Given the description of an element on the screen output the (x, y) to click on. 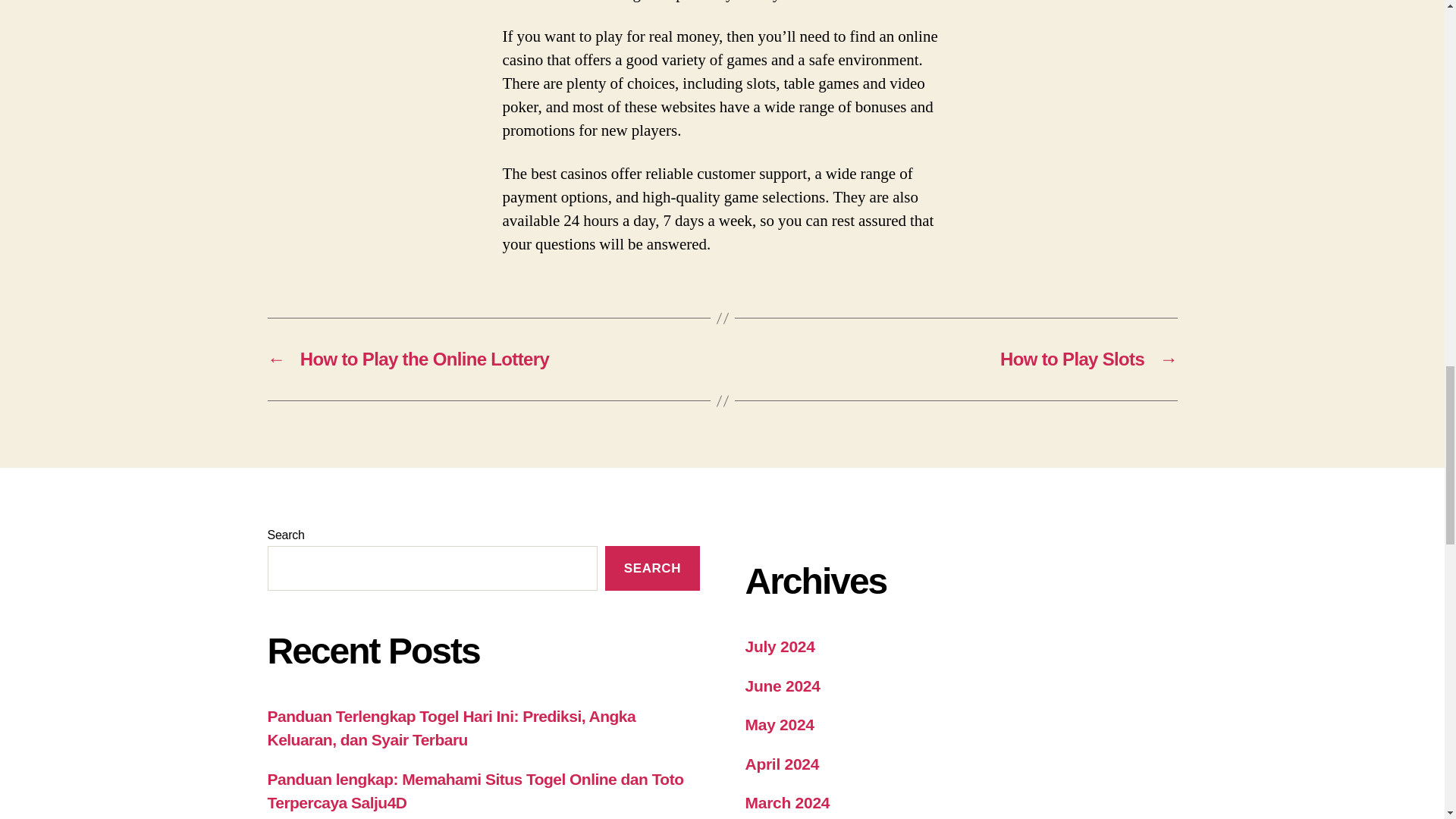
May 2024 (778, 724)
April 2024 (781, 764)
SEARCH (651, 568)
March 2024 (786, 802)
July 2024 (778, 646)
June 2024 (781, 685)
